Given the description of an element on the screen output the (x, y) to click on. 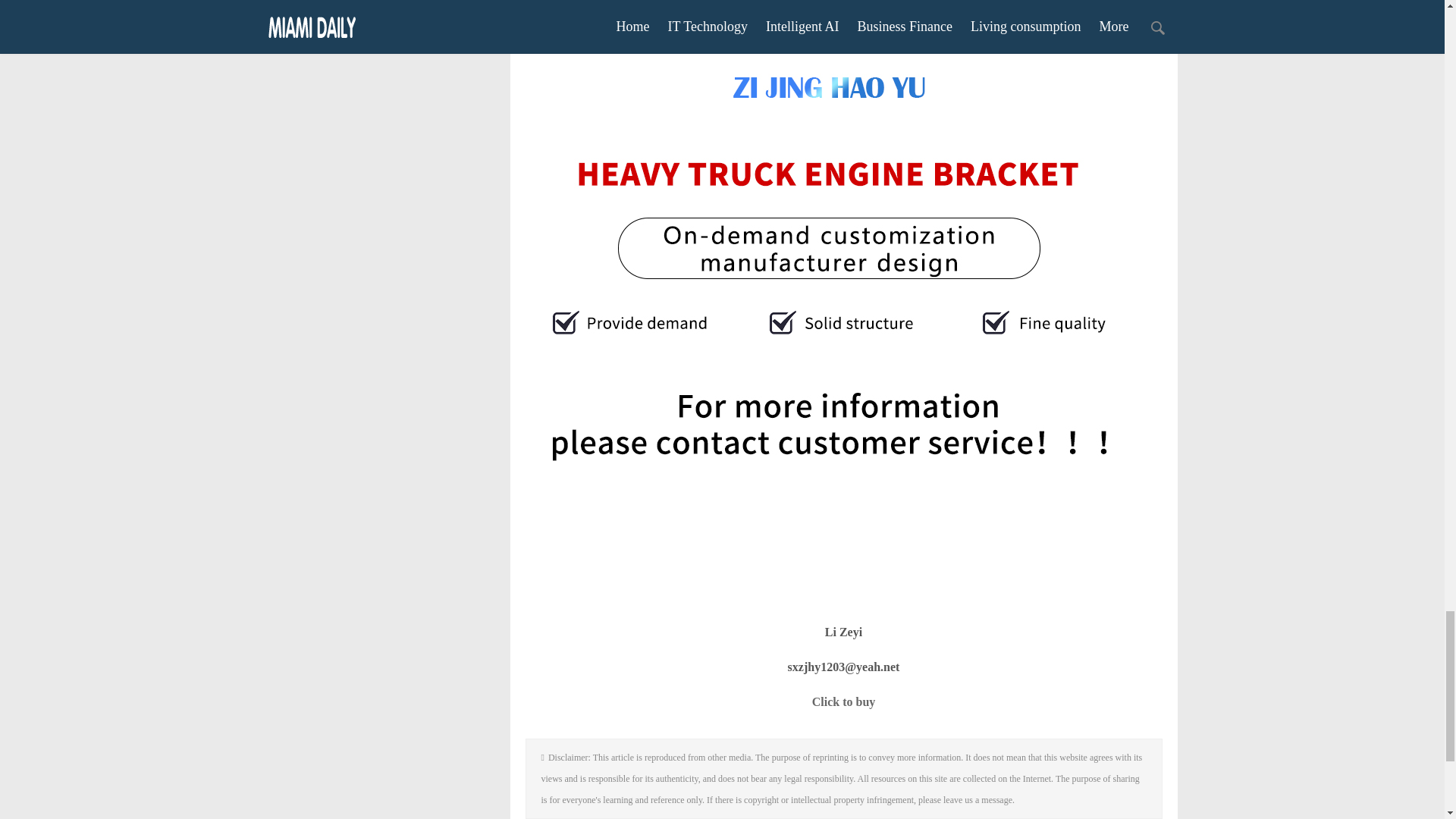
Click to buy (844, 701)
